Given the description of an element on the screen output the (x, y) to click on. 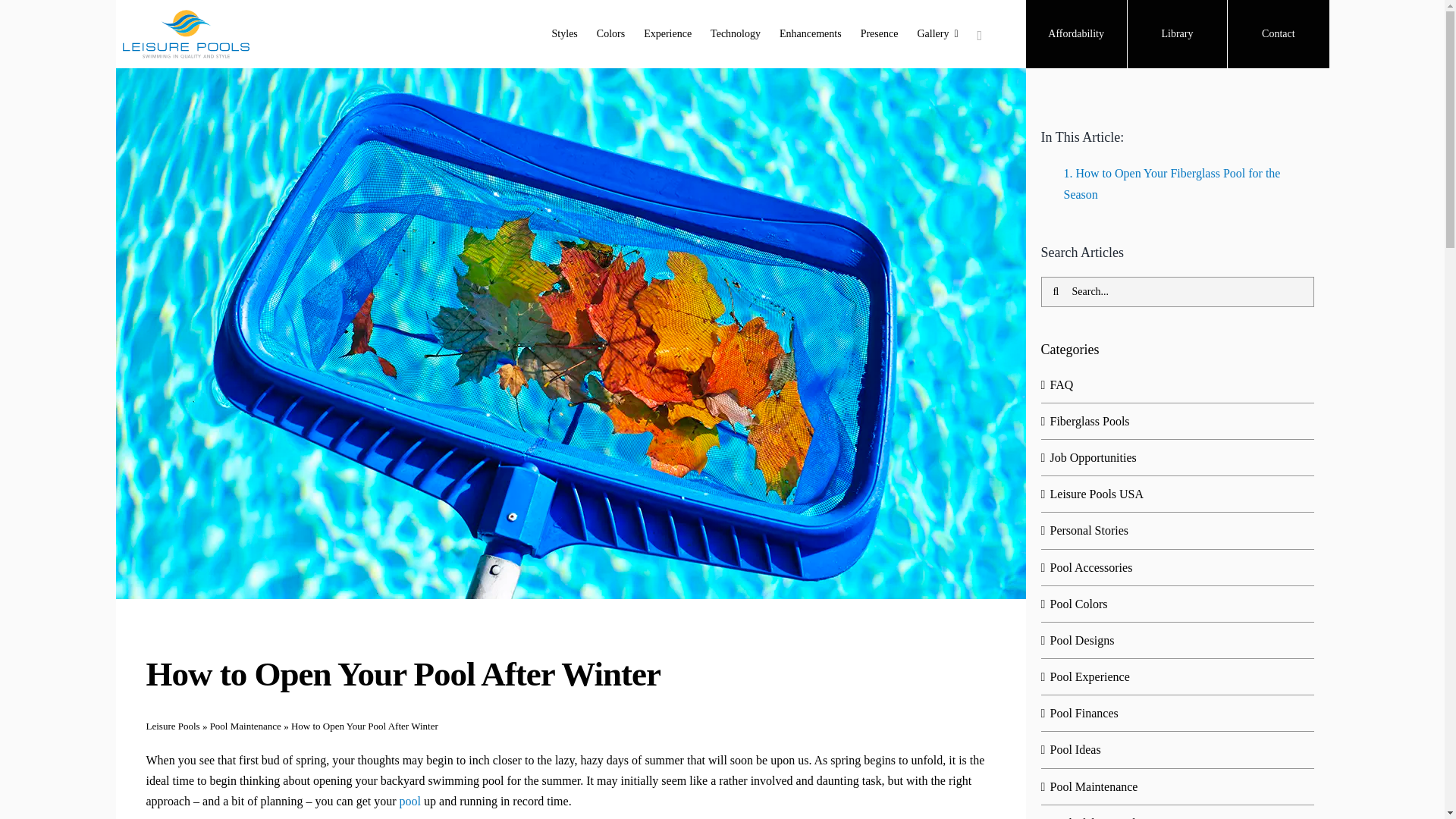
Gallery (937, 34)
Technology (735, 34)
Colors (610, 34)
Presence (879, 34)
Styles (564, 34)
pool (409, 800)
Experience (667, 34)
Leisure Pools (172, 726)
Pool Maintenance (245, 726)
